Given the description of an element on the screen output the (x, y) to click on. 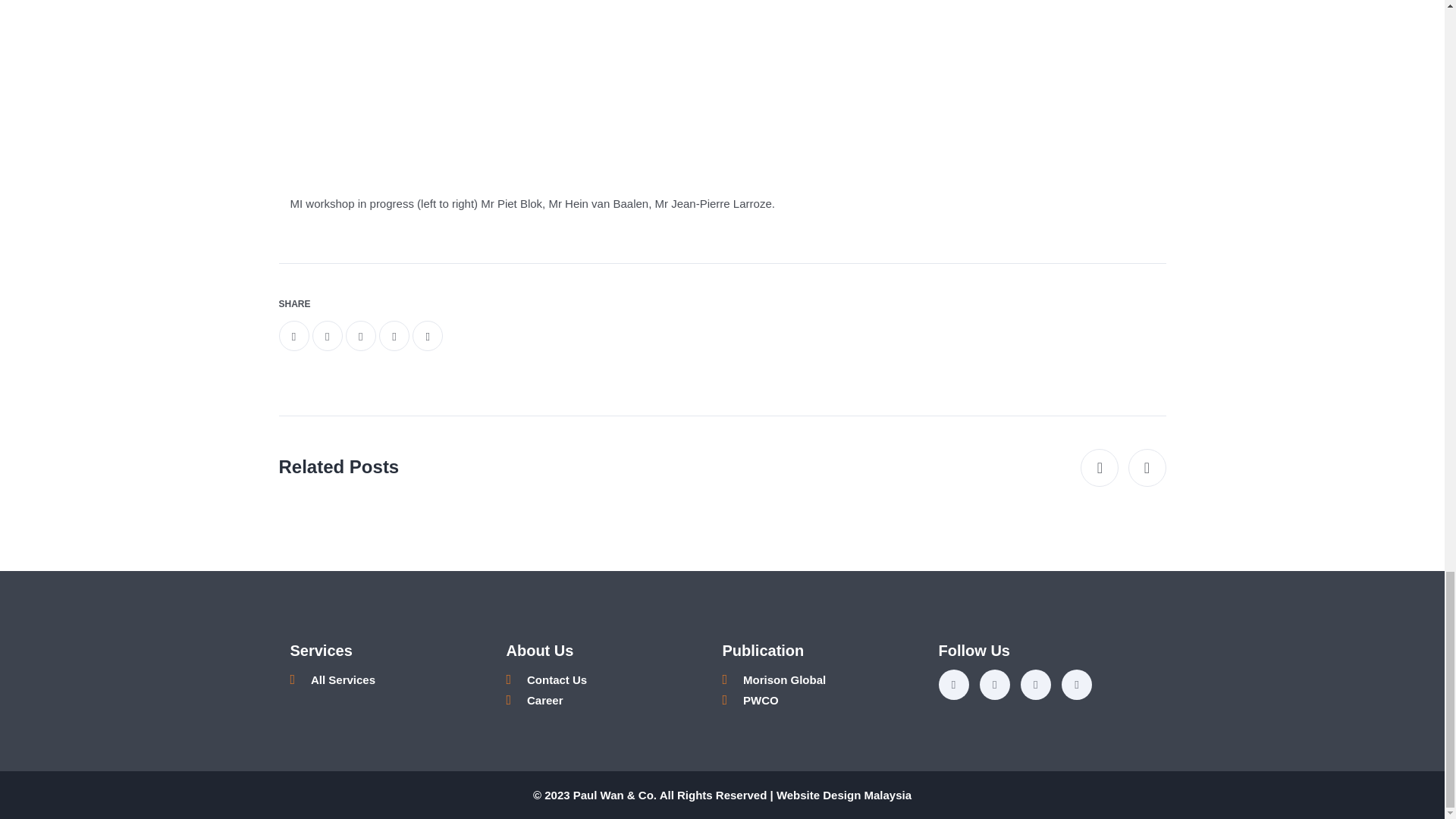
facebook (293, 336)
skype (427, 336)
twitter (327, 336)
telegram (393, 336)
whatsapp (360, 336)
